Given the description of an element on the screen output the (x, y) to click on. 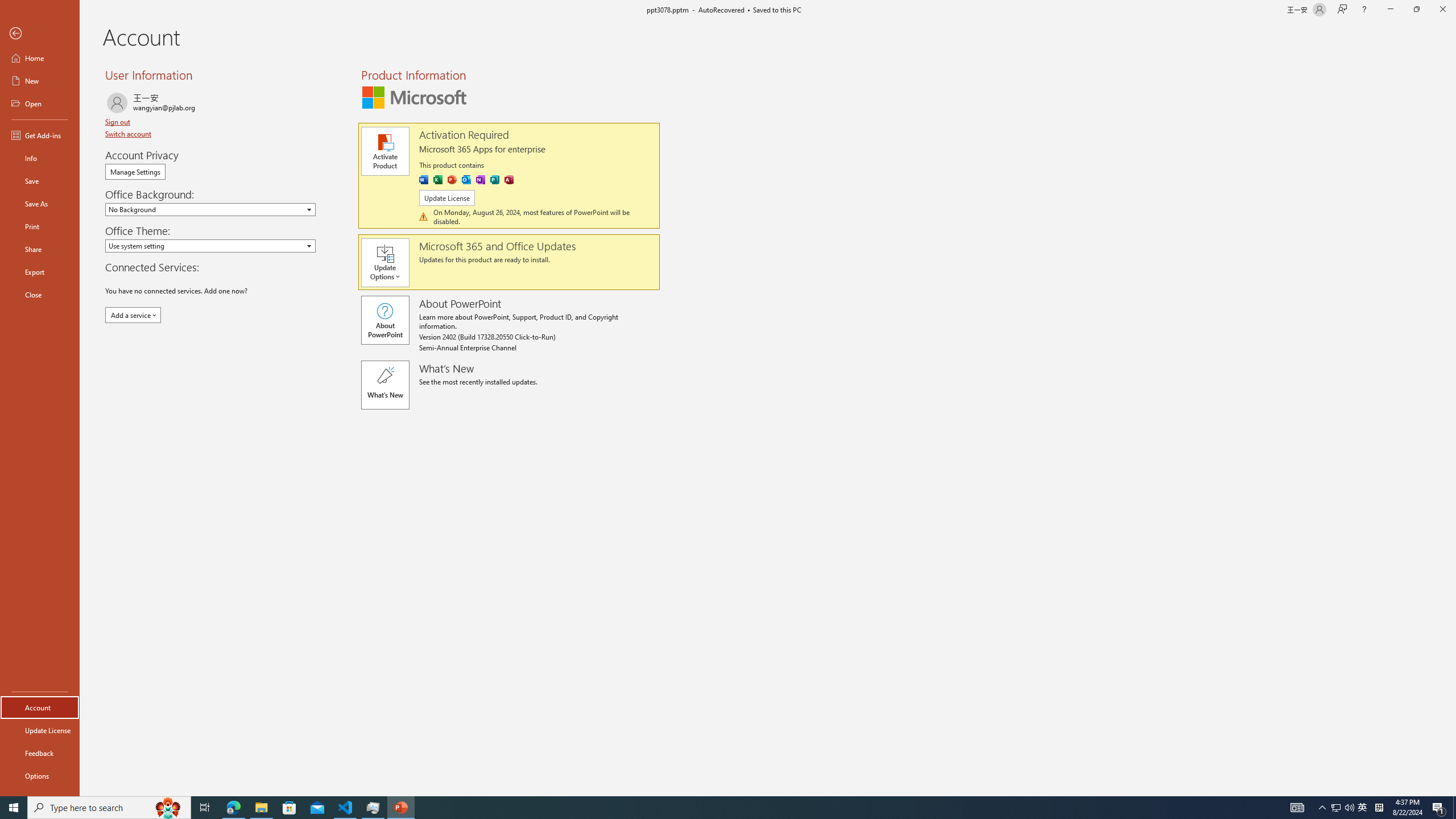
Microsoft search (749, 18)
Enclose Characters... (374, 102)
Font... (383, 128)
